Given the description of an element on the screen output the (x, y) to click on. 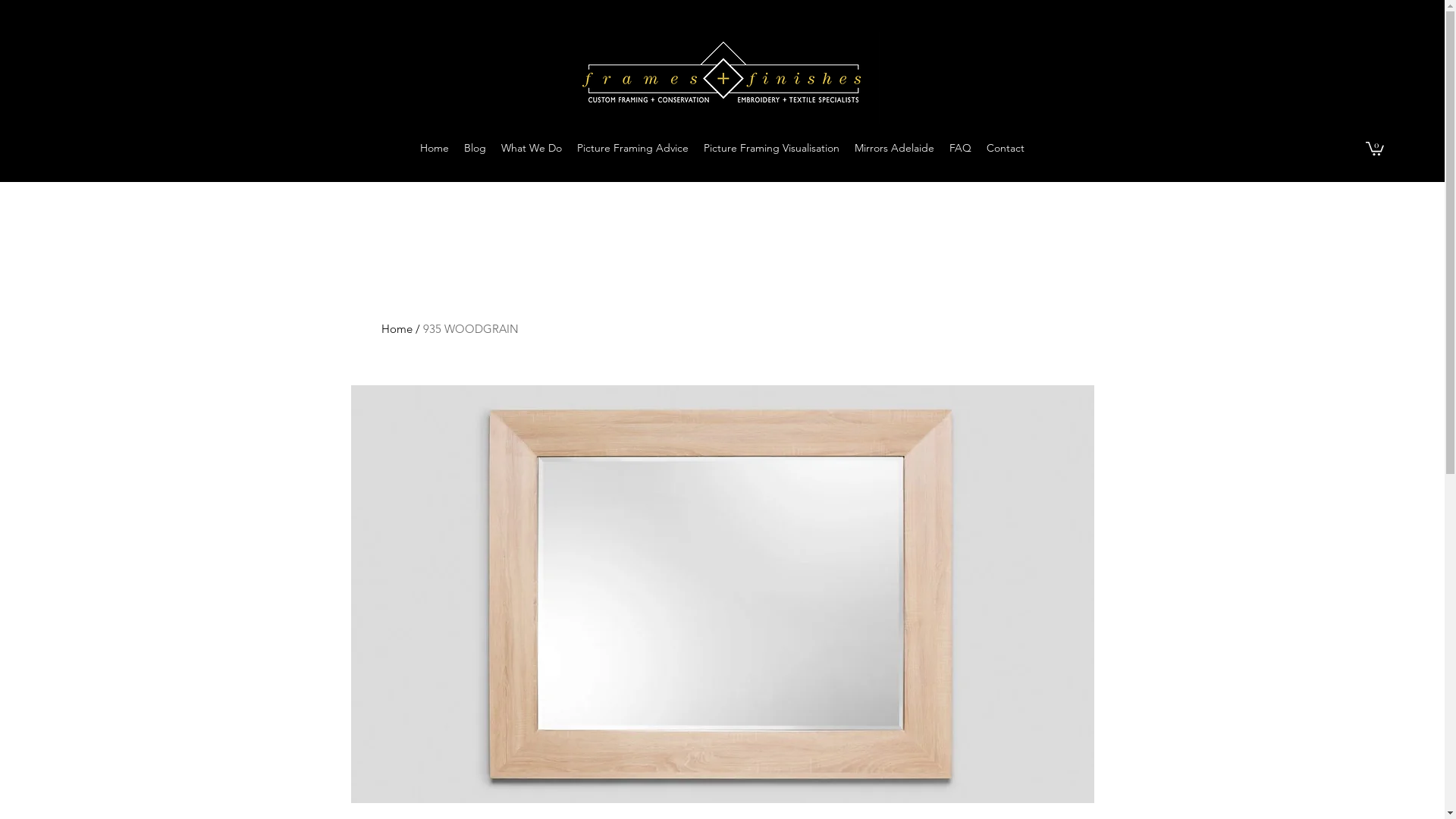
Mirrors Adelaide Element type: text (894, 147)
Picture Framing Visualisation Element type: text (771, 147)
FAQ Element type: text (960, 147)
Home Element type: text (395, 328)
935 WOODGRAIN Element type: text (470, 328)
What We Do Element type: text (531, 147)
Contact Element type: text (1005, 147)
Home Element type: text (434, 147)
Blog Element type: text (474, 147)
0 Element type: text (1374, 147)
Picture Framing Advice Element type: text (632, 147)
